Given the description of an element on the screen output the (x, y) to click on. 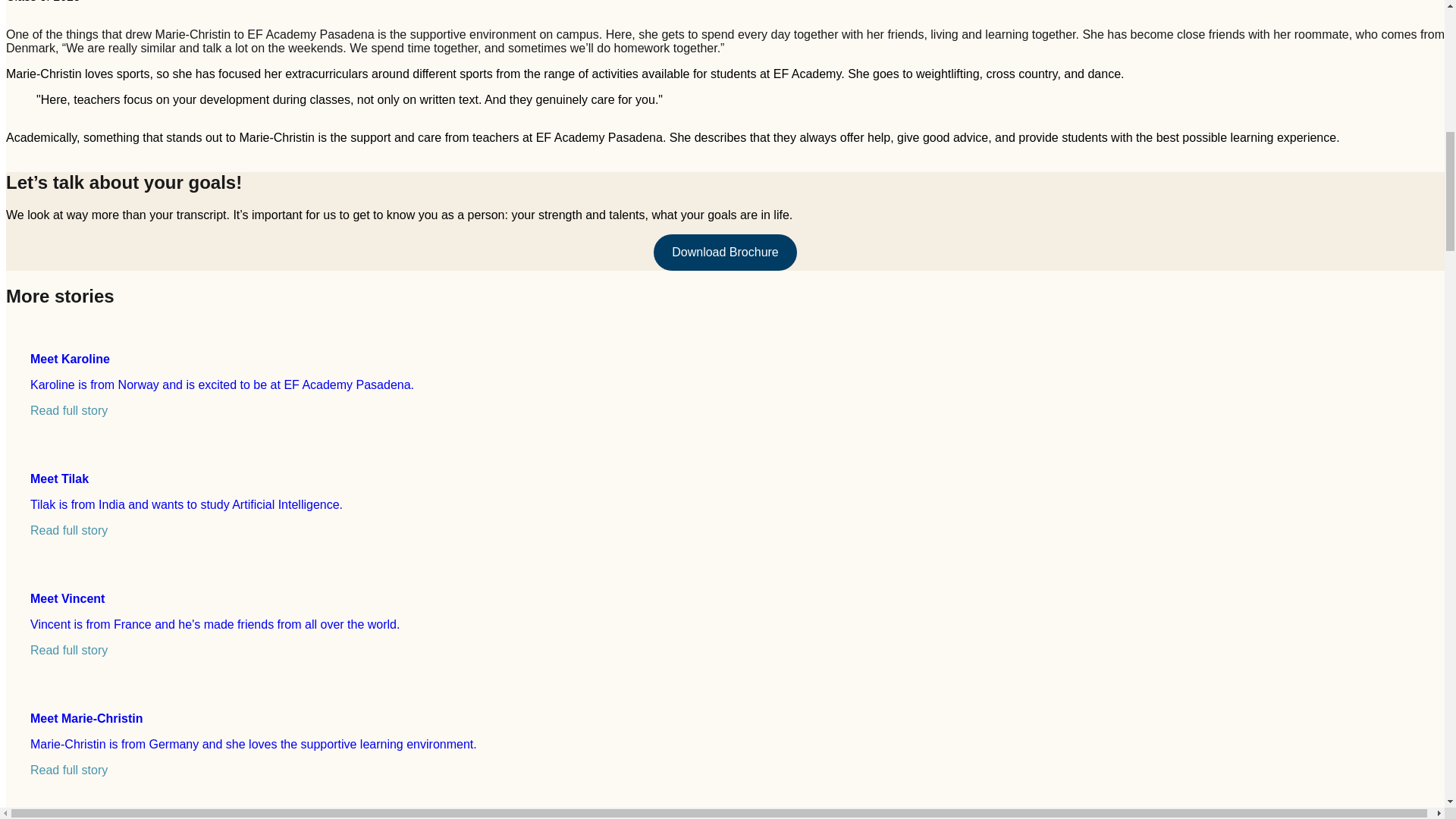
Download Brochure (724, 252)
